Given the description of an element on the screen output the (x, y) to click on. 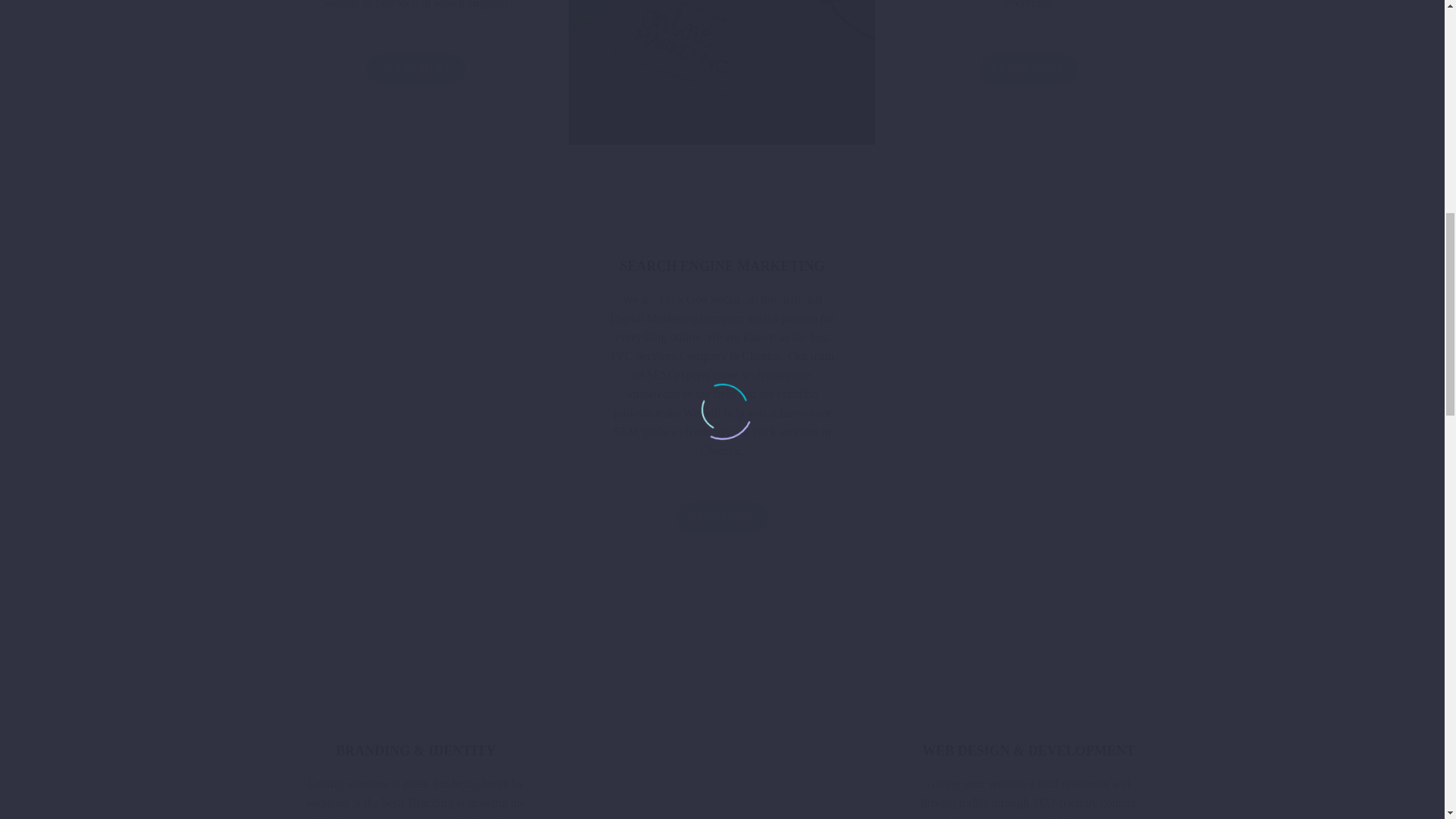
READ MORE (722, 517)
LEARN MORE (415, 69)
LEARN MORE (1027, 69)
